Given the description of an element on the screen output the (x, y) to click on. 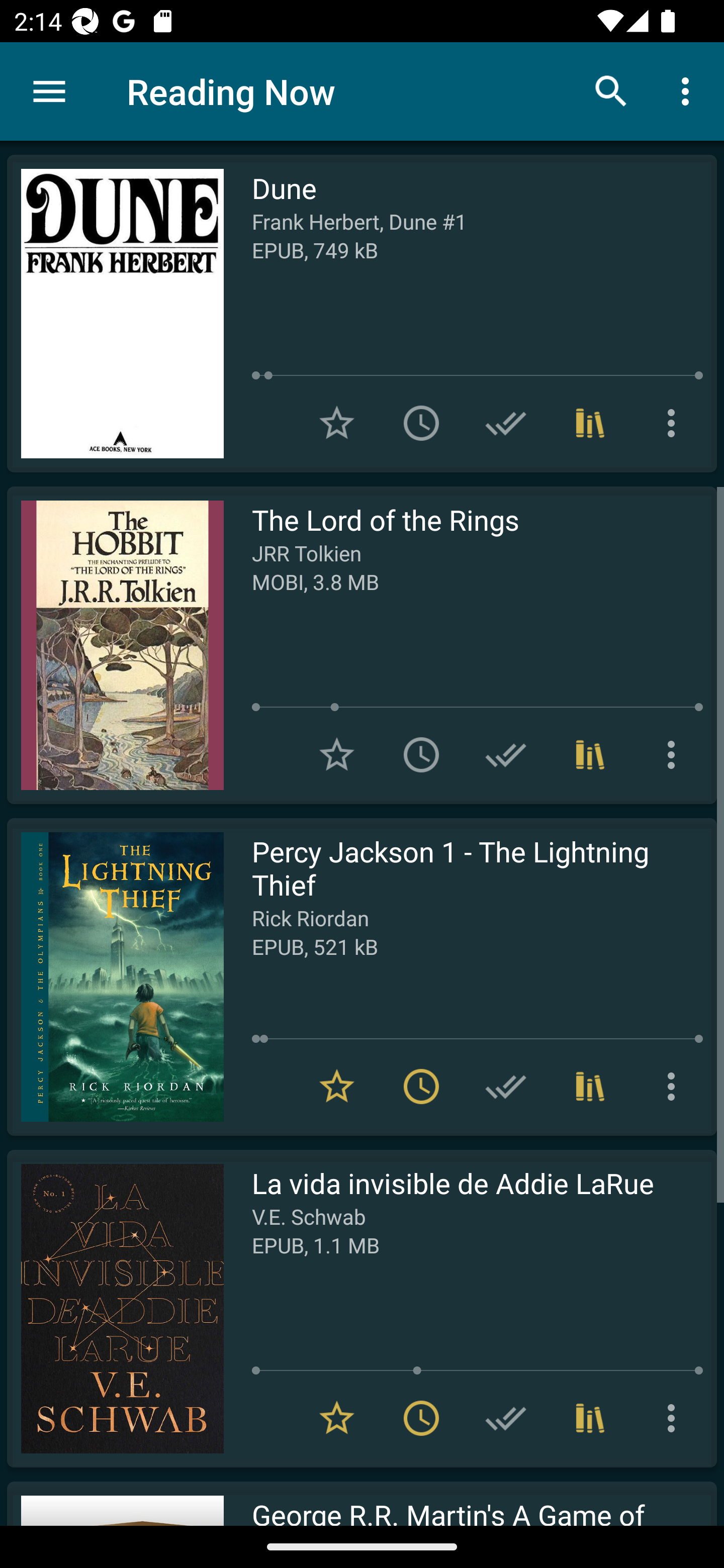
Menu (49, 91)
Search books & documents (611, 90)
More options (688, 90)
Read Dune (115, 313)
Add to Favorites (336, 423)
Add to To read (421, 423)
Add to Have read (505, 423)
Collections (1) (590, 423)
More options (674, 423)
Read The Lord of the Rings (115, 645)
Add to Favorites (336, 753)
Add to To read (421, 753)
Add to Have read (505, 753)
Collections (1) (590, 753)
More options (674, 753)
Read Percy Jackson 1 - The Lightning Thief (115, 976)
Remove from Favorites (336, 1086)
Remove from To read (421, 1086)
Add to Have read (505, 1086)
Collections (1) (590, 1086)
More options (674, 1086)
Read La vida invisible de Addie LaRue (115, 1308)
Remove from Favorites (336, 1417)
Remove from To read (421, 1417)
Add to Have read (505, 1417)
Collections (1) (590, 1417)
More options (674, 1417)
